Given the description of an element on the screen output the (x, y) to click on. 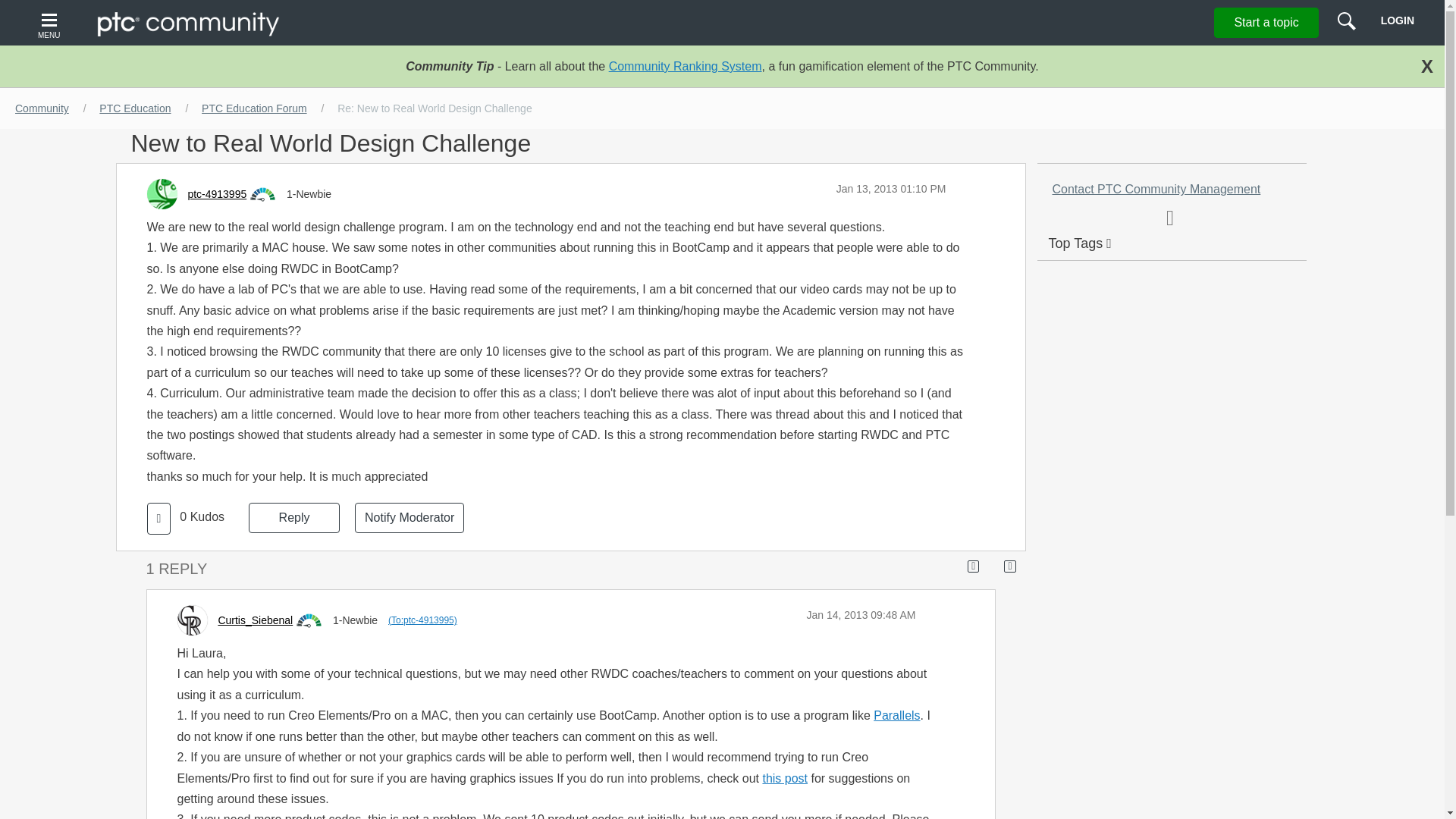
ptc-4913995 (216, 193)
PTC Education Forum (253, 108)
Community Ranking System (684, 65)
PTC Education (134, 108)
Reply (293, 517)
LOGIN (1396, 20)
Notify Moderator (409, 517)
Start a topic (1265, 22)
MENU (50, 22)
Community (42, 108)
